Given the description of an element on the screen output the (x, y) to click on. 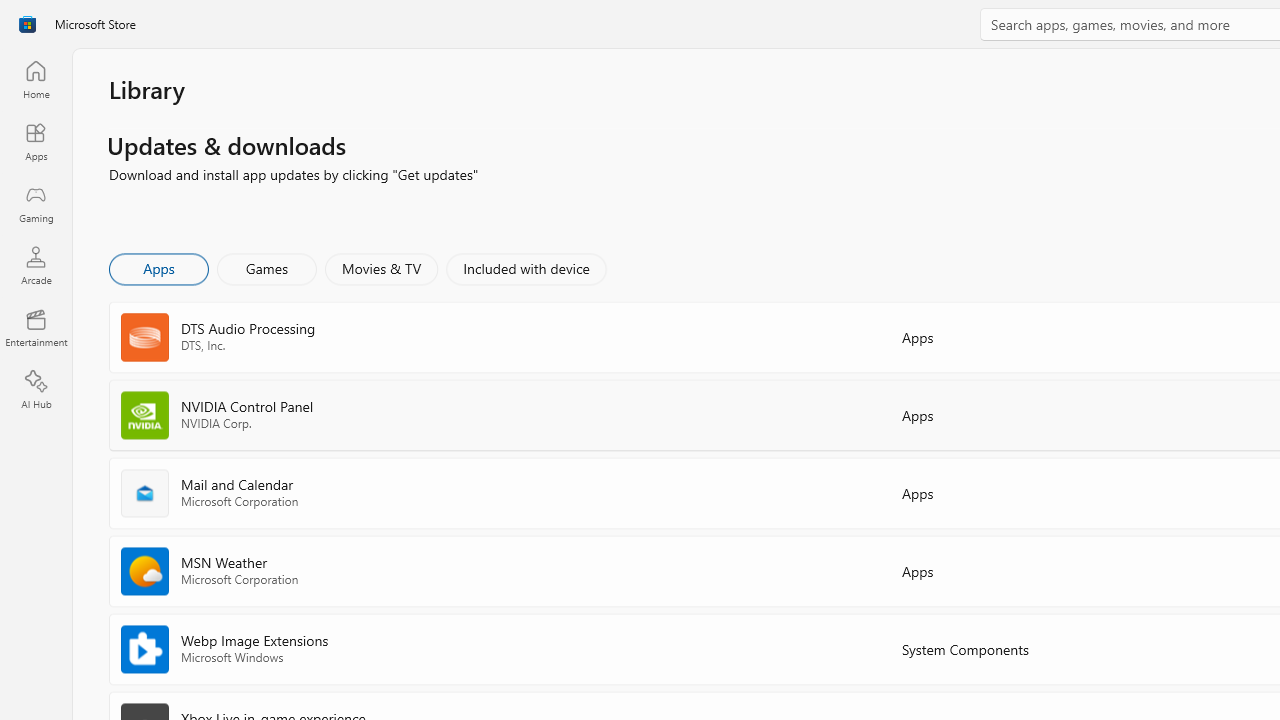
AI Hub (35, 390)
Movies & TV (381, 268)
Class: Image (27, 24)
Included with device (525, 268)
Arcade (35, 265)
Home (35, 79)
Apps (158, 268)
Gaming (35, 203)
Entertainment (35, 327)
Apps (35, 141)
Games (267, 268)
